Given the description of an element on the screen output the (x, y) to click on. 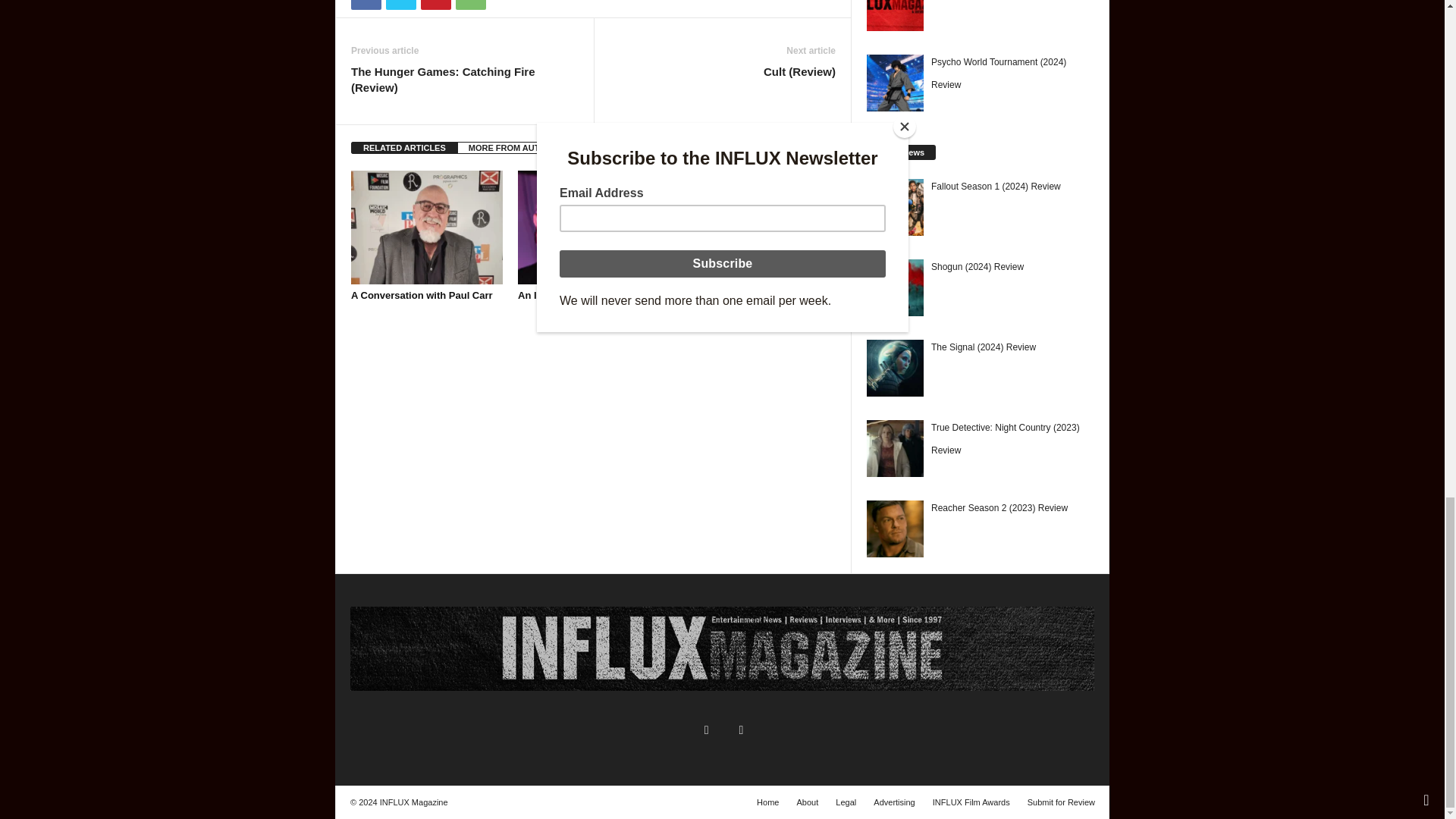
RELATED ARTICLES (404, 147)
Pinterest (435, 4)
Twitter (400, 4)
WhatsApp (470, 4)
Facebook (365, 4)
MORE FROM AUTHOR (513, 147)
